Given the description of an element on the screen output the (x, y) to click on. 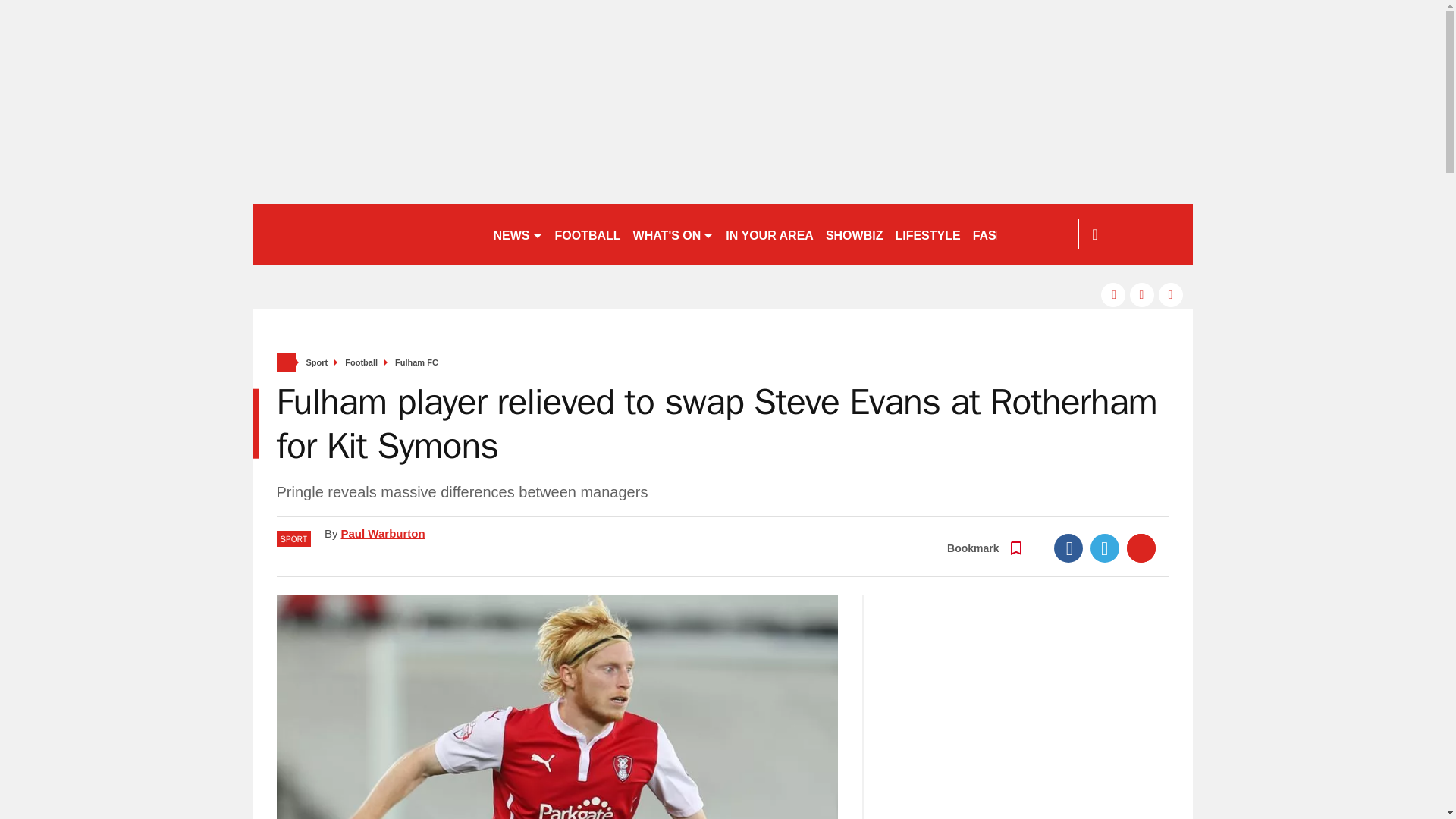
FOOTBALL (587, 233)
Facebook (1068, 547)
NEWS (517, 233)
facebook (1112, 294)
twitter (1141, 294)
WHAT'S ON (673, 233)
LIFESTYLE (927, 233)
getwestlondon (365, 233)
instagram (1170, 294)
Twitter (1104, 547)
IN YOUR AREA (769, 233)
SHOWBIZ (854, 233)
